Given the description of an element on the screen output the (x, y) to click on. 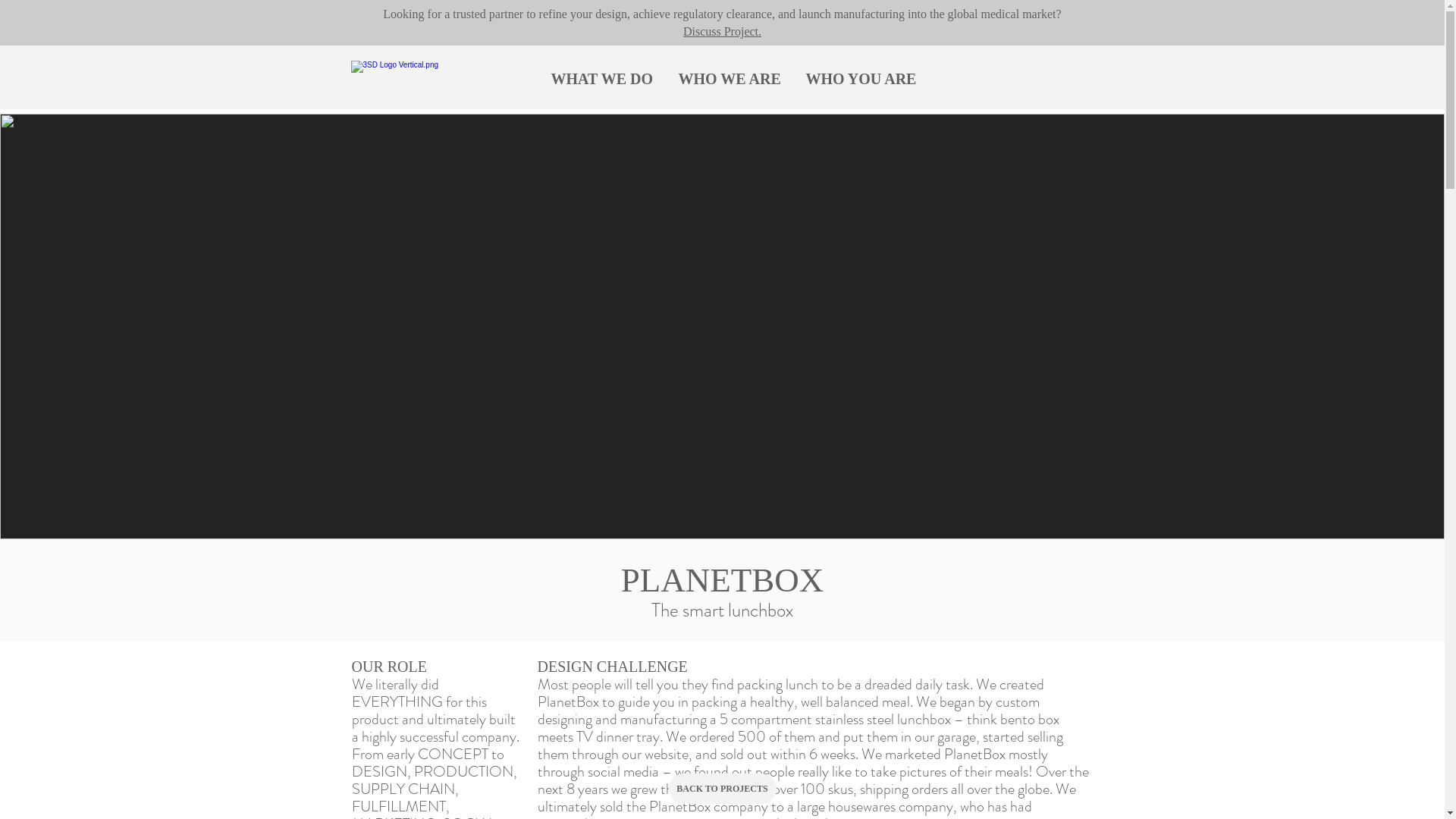
Discuss Project. Element type: text (722, 31)
WHO YOU ARE Element type: text (860, 78)
WHAT WE DO Element type: text (601, 78)
BACK TO PROJECTS Element type: text (722, 788)
WHO WE ARE Element type: text (728, 78)
